Given the description of an element on the screen output the (x, y) to click on. 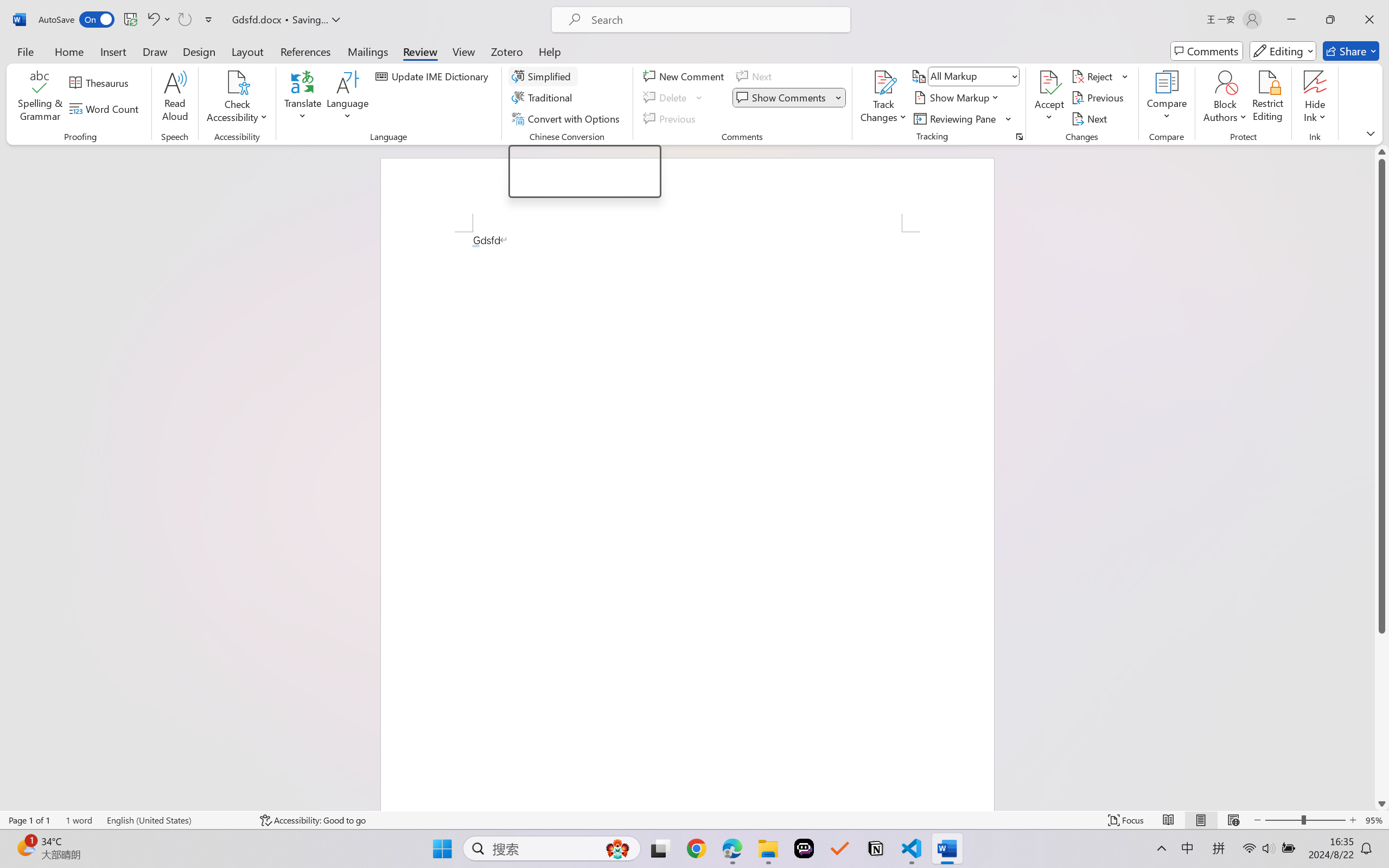
Reject and Move to Next (1093, 75)
Can't Repeat (184, 19)
Word Count (105, 108)
Translate (303, 97)
Hide Ink (1315, 97)
Zoom 95% (1374, 819)
Compare (1166, 97)
Thesaurus... (101, 82)
